Given the description of an element on the screen output the (x, y) to click on. 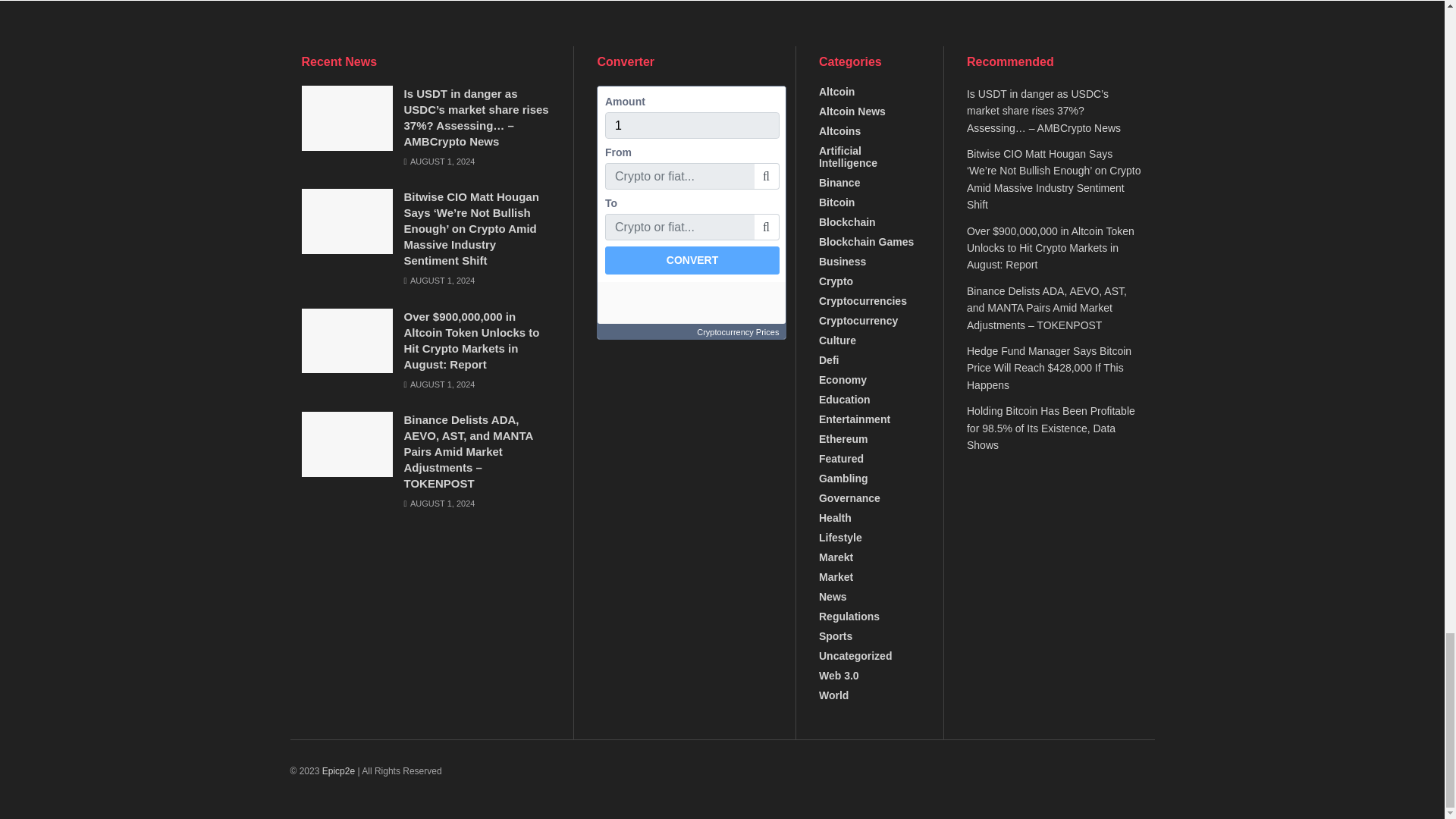
Premium news  (338, 770)
